Given the description of an element on the screen output the (x, y) to click on. 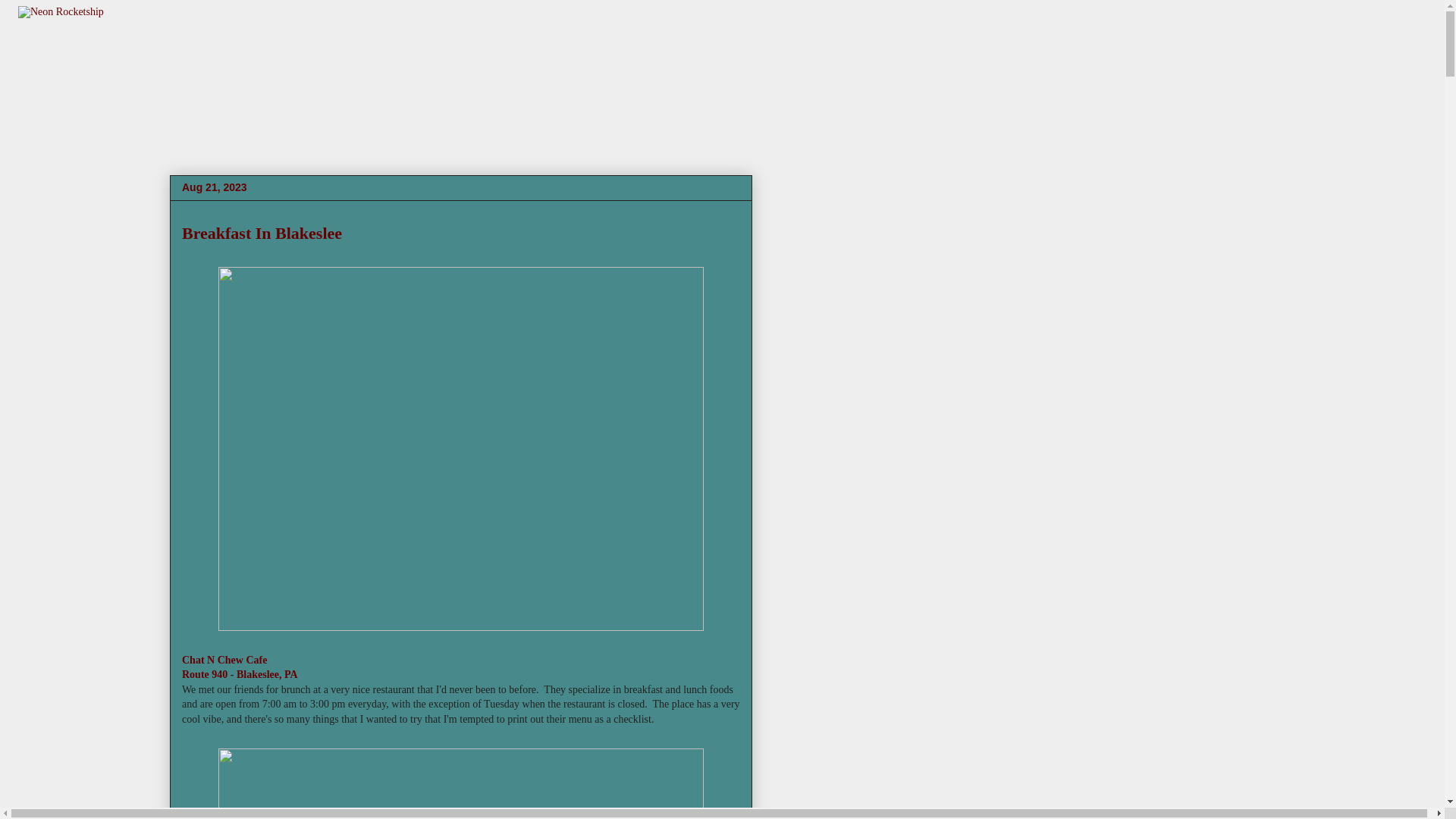
Blakeslee, PA (266, 674)
Chat N Chew Cafe (224, 659)
Route 940 (204, 674)
